Given the description of an element on the screen output the (x, y) to click on. 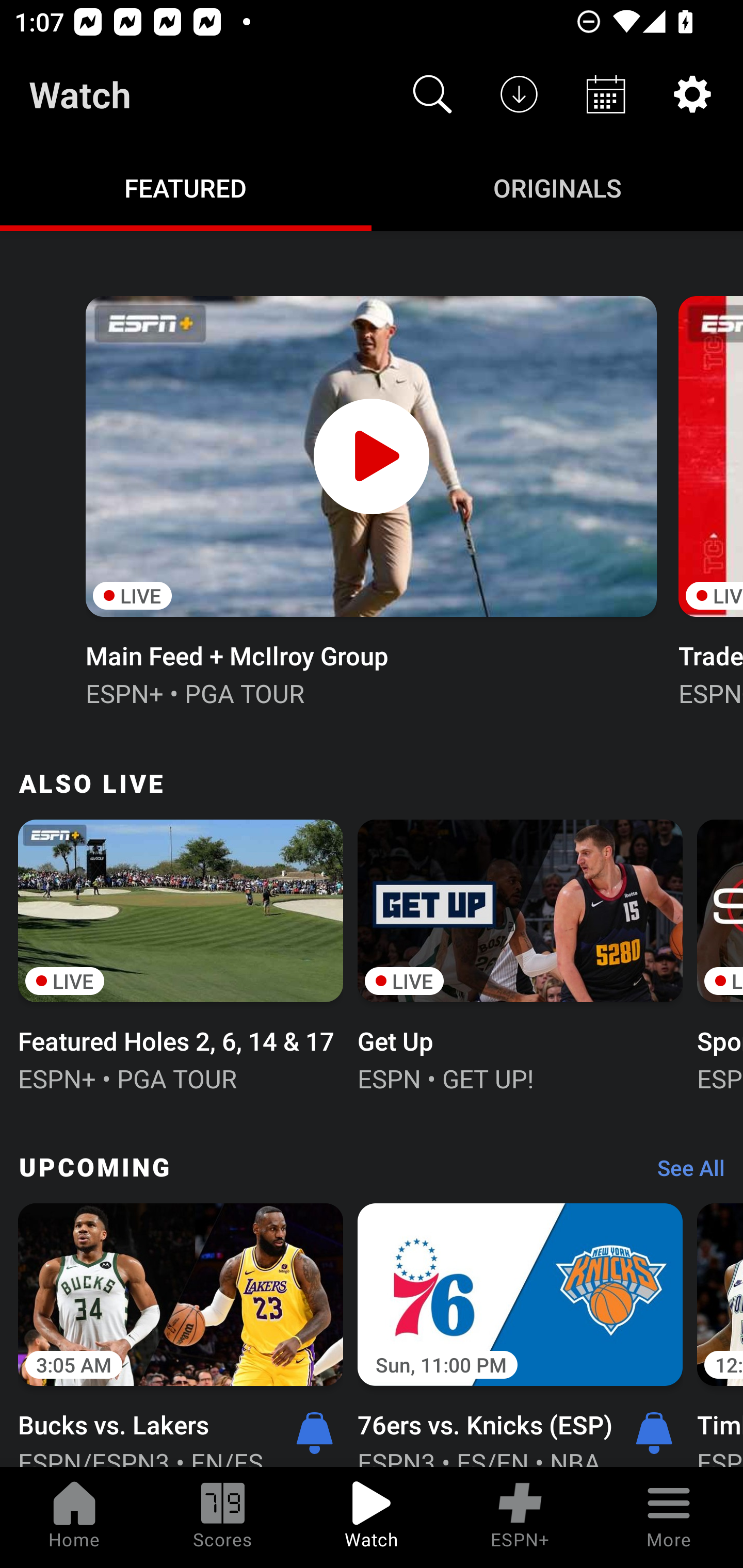
Search (432, 93)
Downloads (518, 93)
Schedule (605, 93)
Settings (692, 93)
Originals ORIGINALS (557, 187)
 LIVE Main Feed + McIlroy Group ESPN+ • PGA TOUR (370, 499)
LIVE Featured Holes 2, 6, 14 & 17 ESPN+ • PGA TOUR (180, 954)
LIVE Get Up ESPN • GET UP! (519, 954)
See All (683, 1172)
Home (74, 1517)
Scores (222, 1517)
ESPN+ (519, 1517)
More (668, 1517)
